Given the description of an element on the screen output the (x, y) to click on. 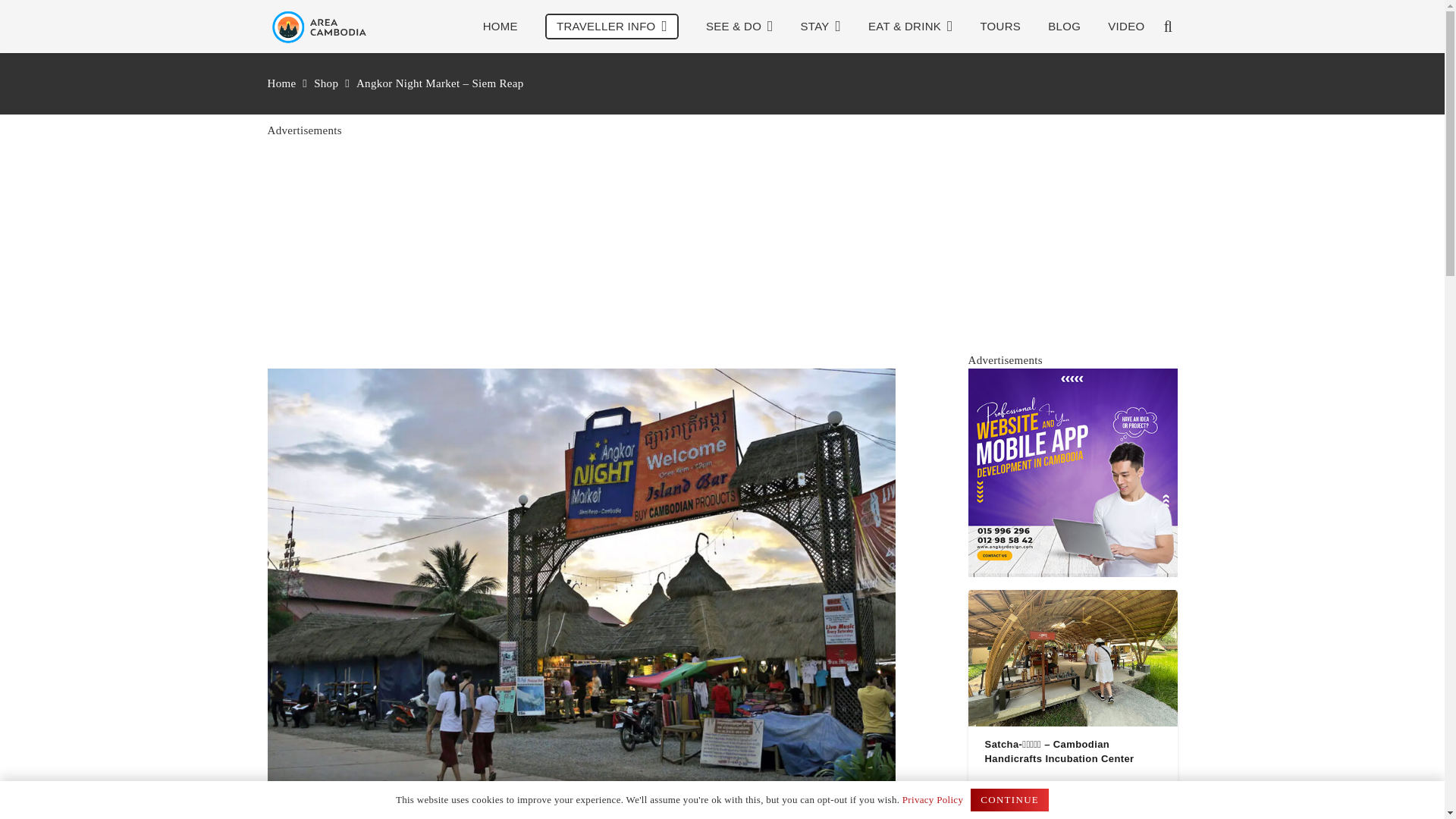
STAY (820, 26)
VIDEO (1126, 26)
HOME (500, 26)
TRAVELLER INFO (611, 26)
TOURS (1000, 26)
BLOG (1064, 26)
